Given the description of an element on the screen output the (x, y) to click on. 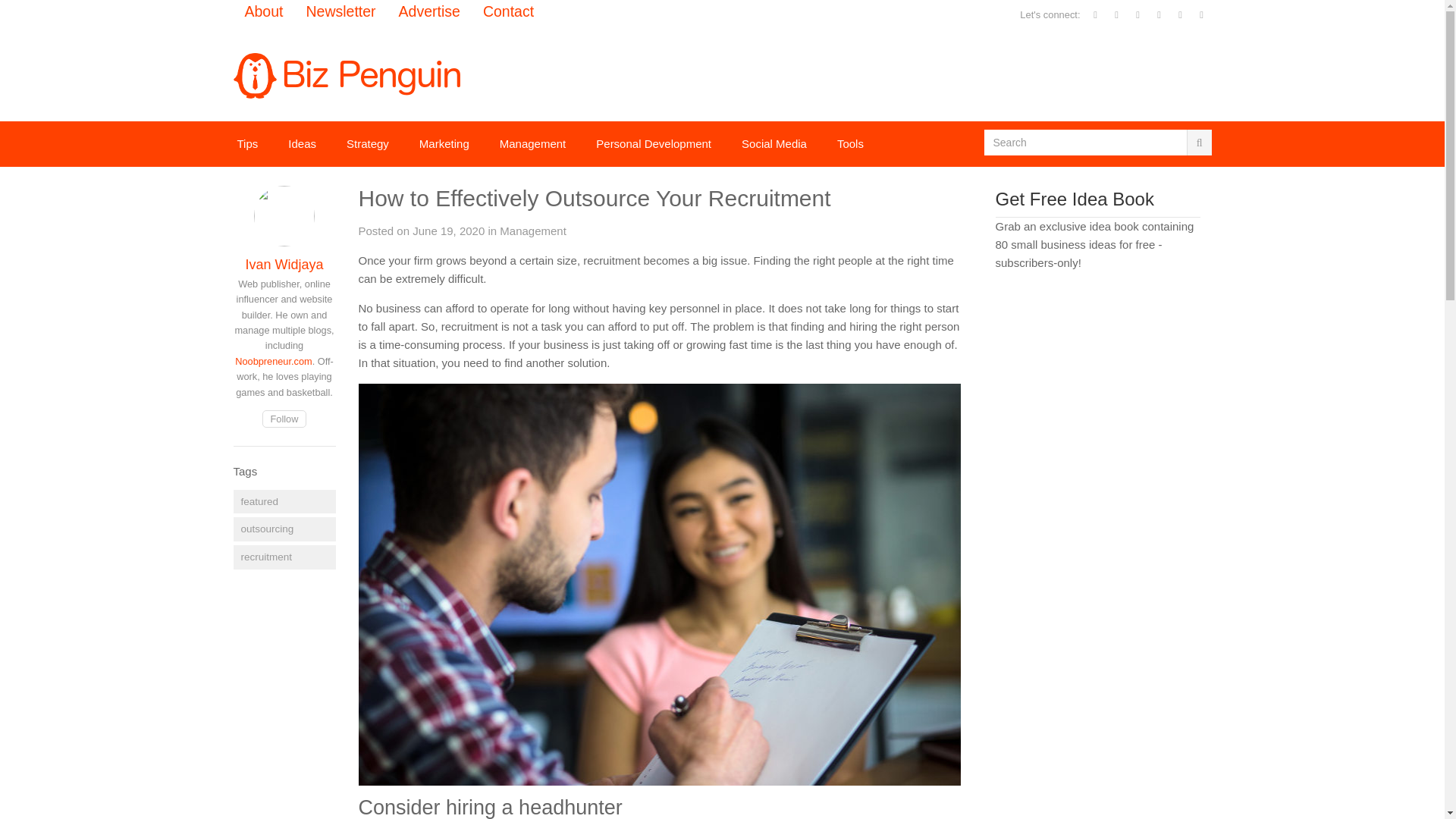
Marketing (444, 144)
Follow on Twitter (284, 418)
Newsletter (340, 11)
Social Media (774, 144)
Tips (247, 144)
Strategy (367, 144)
Ivan Widjaya (283, 264)
Tools (850, 144)
Follow (284, 418)
featured (284, 501)
